Given the description of an element on the screen output the (x, y) to click on. 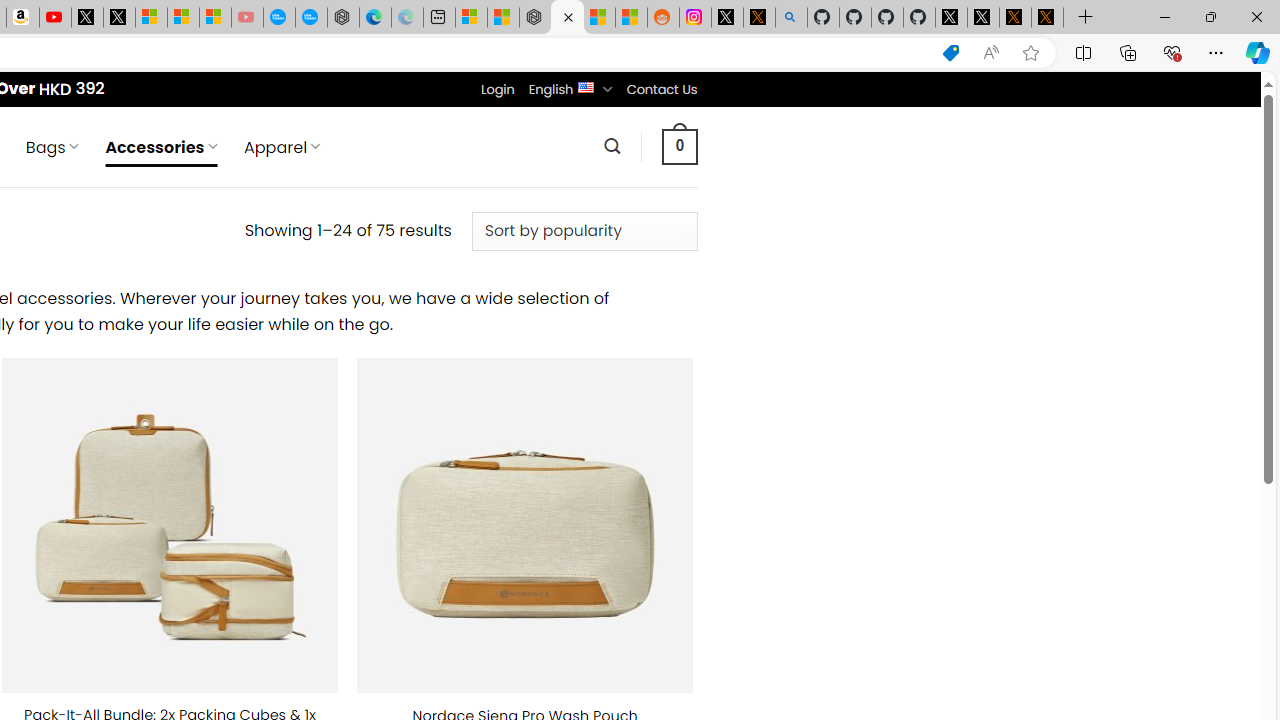
Shanghai, China Weather trends | Microsoft Weather (630, 17)
GitHub (@github) / X (983, 17)
github - Search (791, 17)
Day 1: Arriving in Yemen (surreal to be here) - YouTube (54, 17)
Gloom - YouTube - Sleeping (246, 17)
Shop order (584, 231)
English (586, 86)
